Given the description of an element on the screen output the (x, y) to click on. 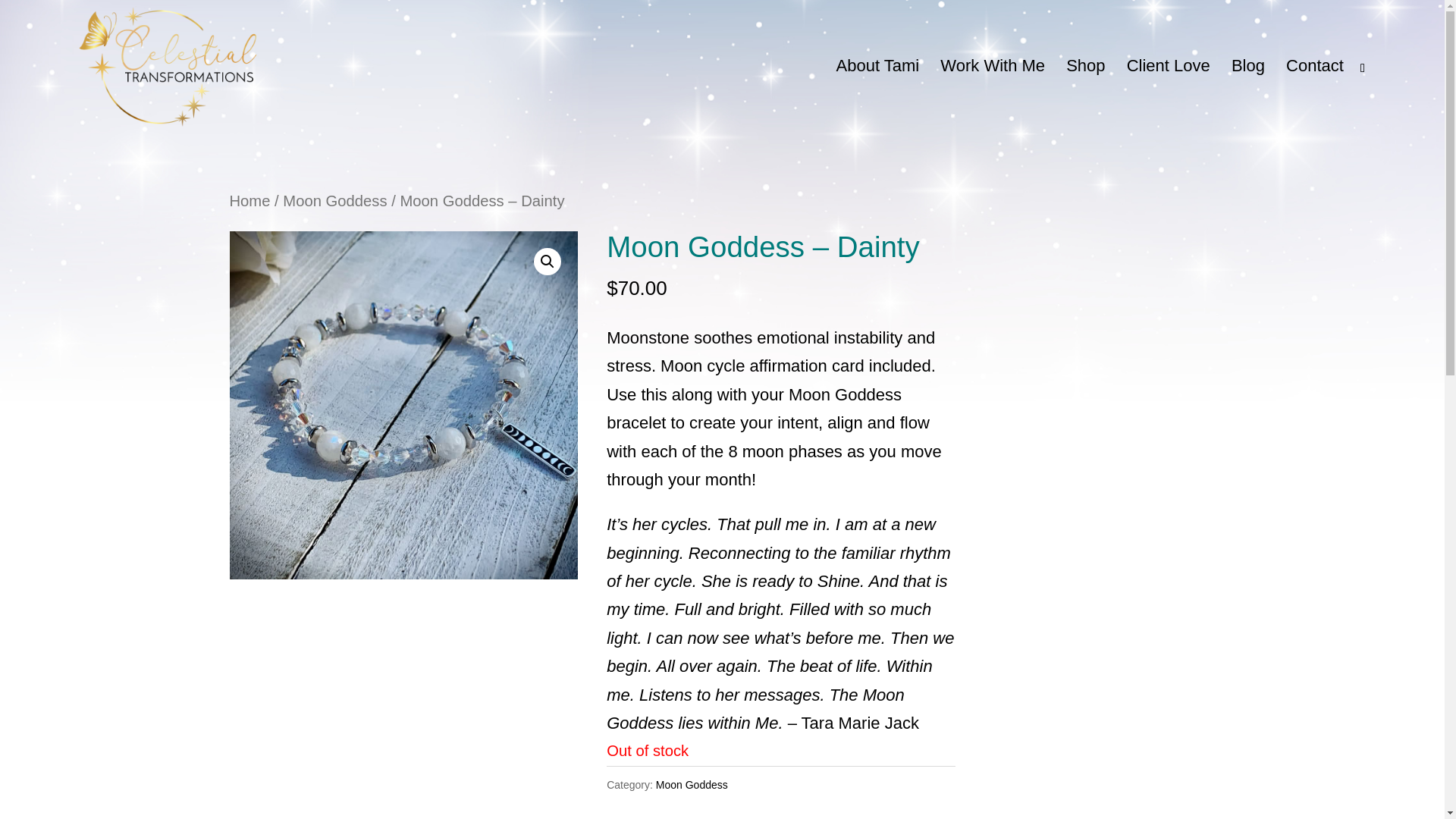
Moon Goddess (692, 784)
About Tami (877, 95)
Client Love (1167, 95)
Moon Goddess (334, 200)
Work With Me (992, 95)
Home (248, 200)
Dainty-Moon-Goddess (402, 404)
